Given the description of an element on the screen output the (x, y) to click on. 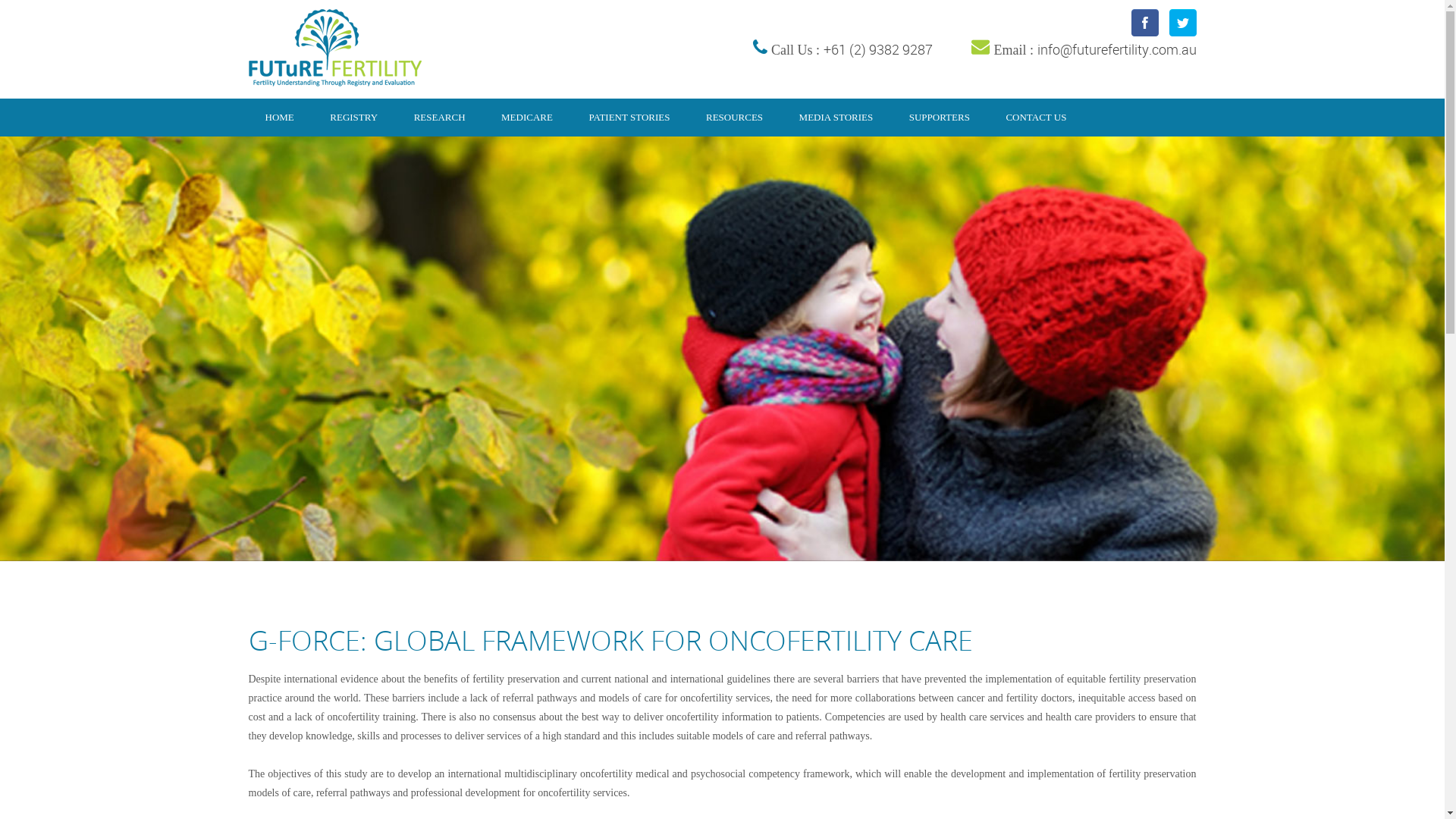
CONTACT US Element type: text (1035, 117)
REGISTRY Element type: text (353, 117)
HOME Element type: text (279, 117)
+61 (2) 9382 9287 Element type: text (877, 49)
PATIENT STORIES Element type: text (628, 117)
SUPPORTERS Element type: text (939, 117)
MEDIA STORIES Element type: text (836, 117)
info@futurefertility.com.au Element type: text (1116, 49)
RESEARCH Element type: text (439, 117)
RESOURCES Element type: text (734, 117)
MEDICARE Element type: text (526, 117)
